Given the description of an element on the screen output the (x, y) to click on. 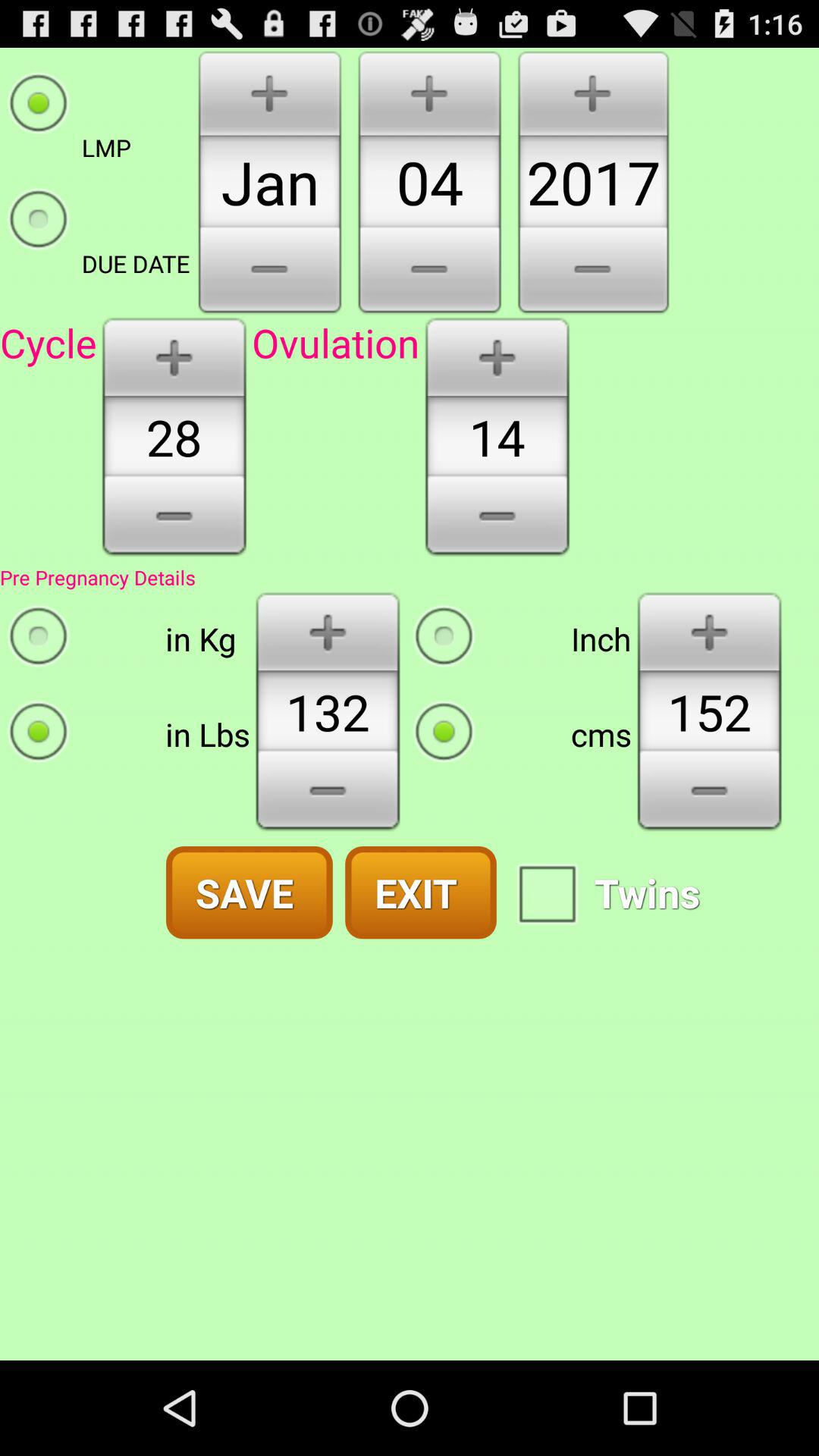
toggle to increase numeral (497, 355)
